Given the description of an element on the screen output the (x, y) to click on. 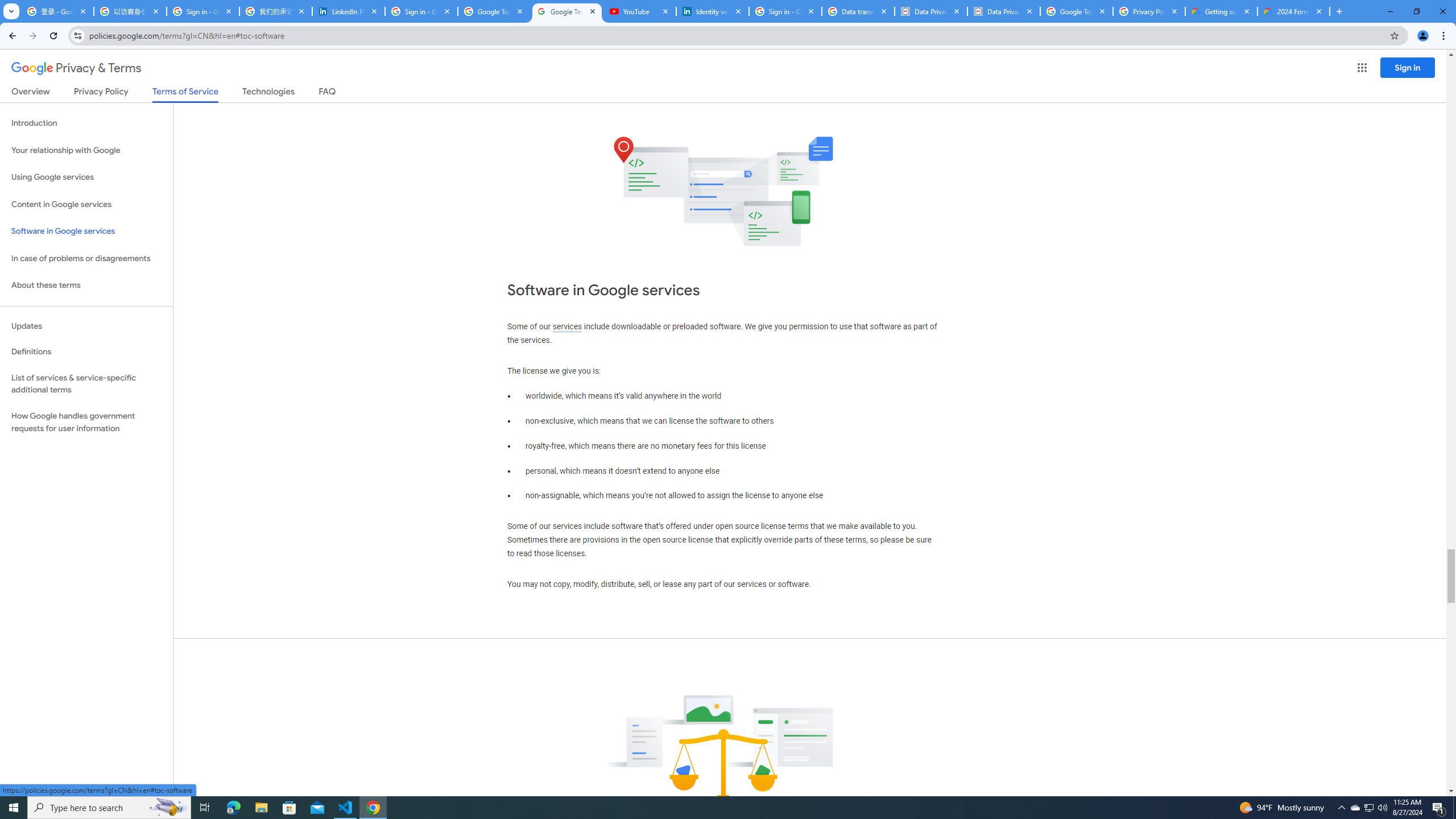
Software in Google services (86, 230)
